Given the description of an element on the screen output the (x, y) to click on. 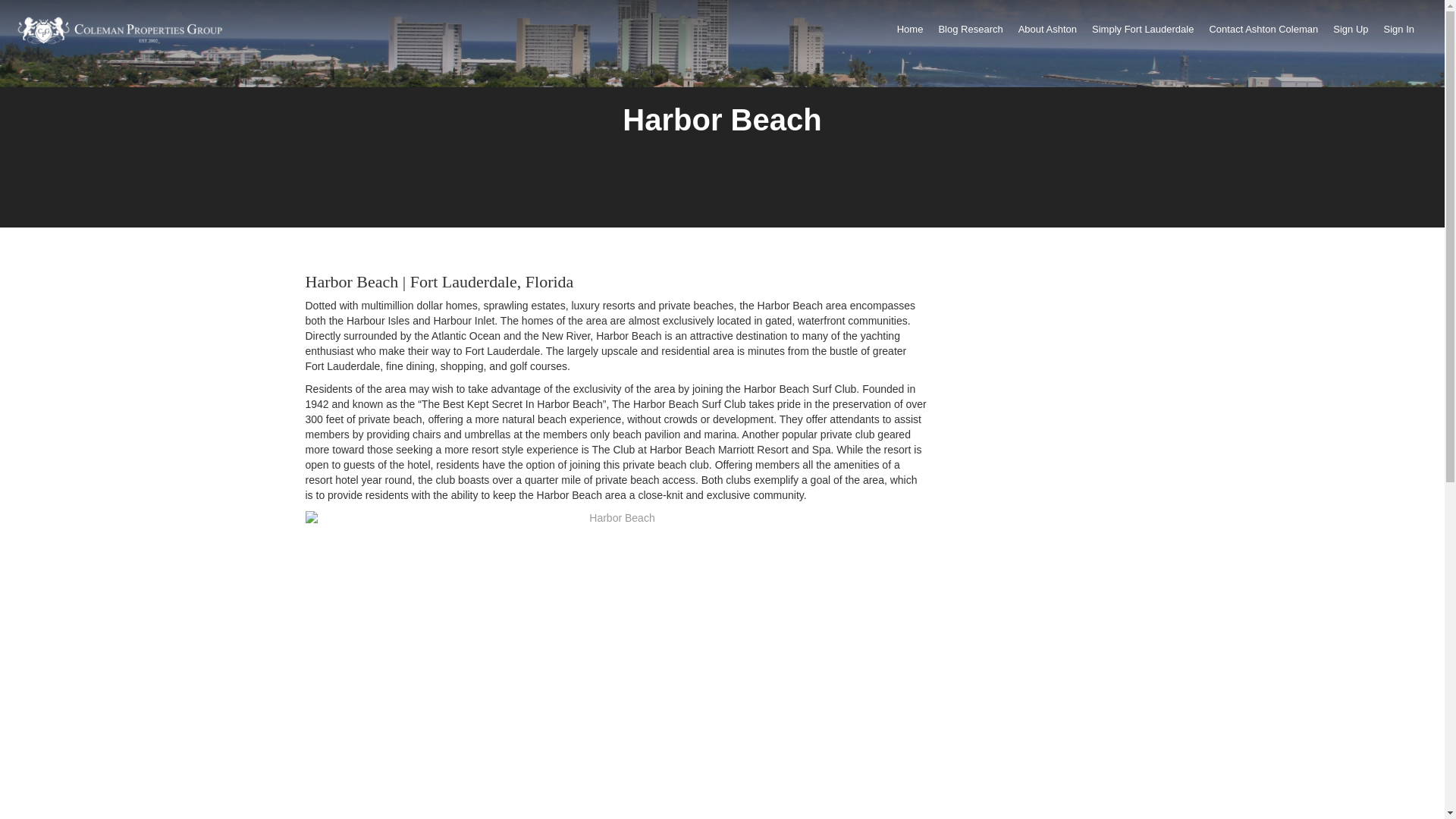
Home (909, 33)
Blog Research (970, 33)
Simply Fort Lauderdale (1142, 33)
Sign Up (1350, 33)
About Ashton (1047, 33)
Sign In (1398, 33)
Contact Ashton Coleman (1262, 33)
